Given the description of an element on the screen output the (x, y) to click on. 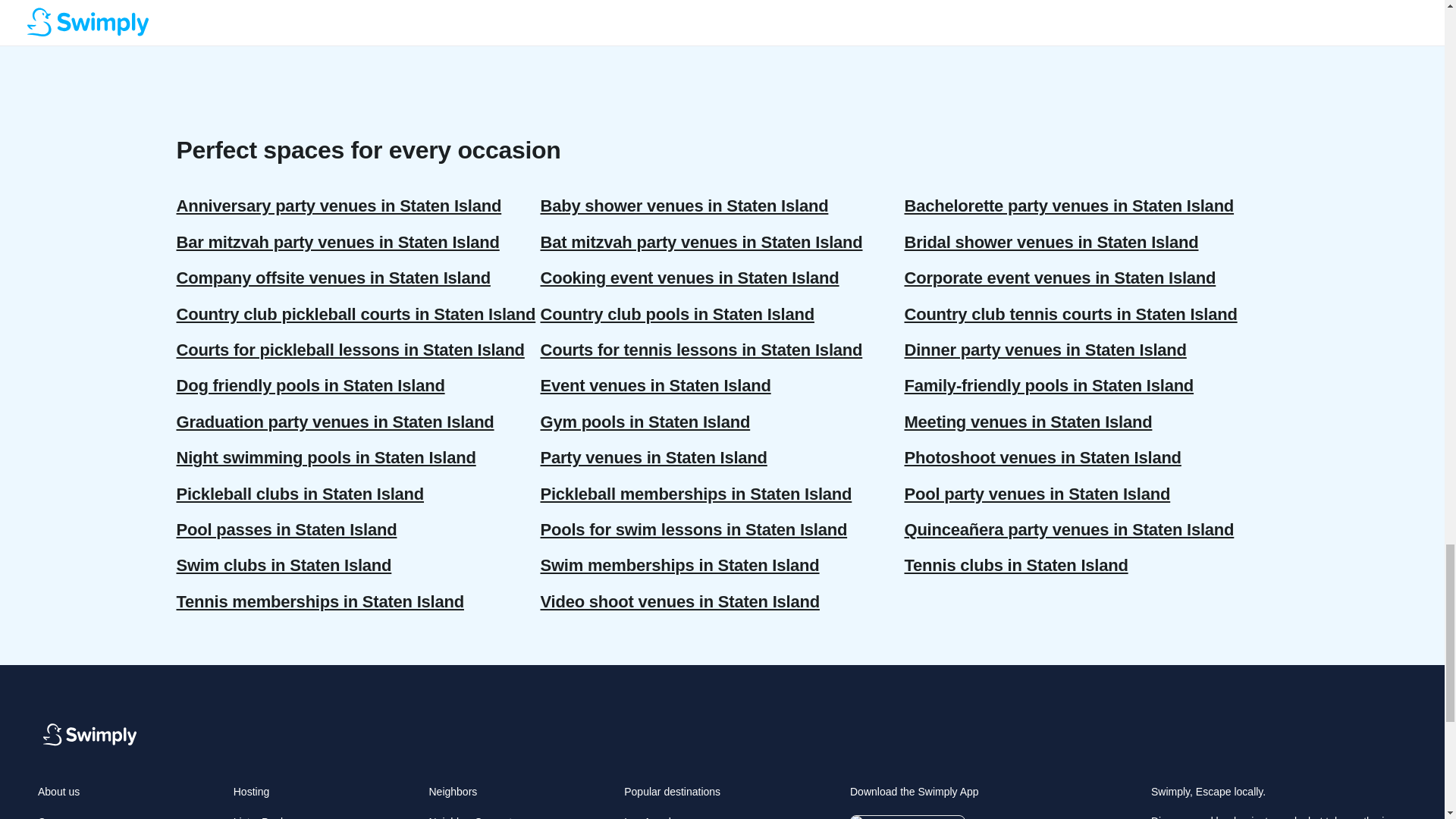
Bridal shower venues in Staten Island (1086, 242)
Bar mitzvah party venues in Staten Island (358, 242)
Corporate event venues in Staten Island (1086, 277)
Bachelorette party venues in Staten Island (1086, 205)
Public pools in Staten Island (358, 22)
Company offsite venues in Staten Island (358, 277)
Cooking event venues in Staten Island (722, 277)
Careers (56, 817)
Bat mitzvah party venues in Staten Island (722, 242)
Los Angeles (652, 817)
